Given the description of an element on the screen output the (x, y) to click on. 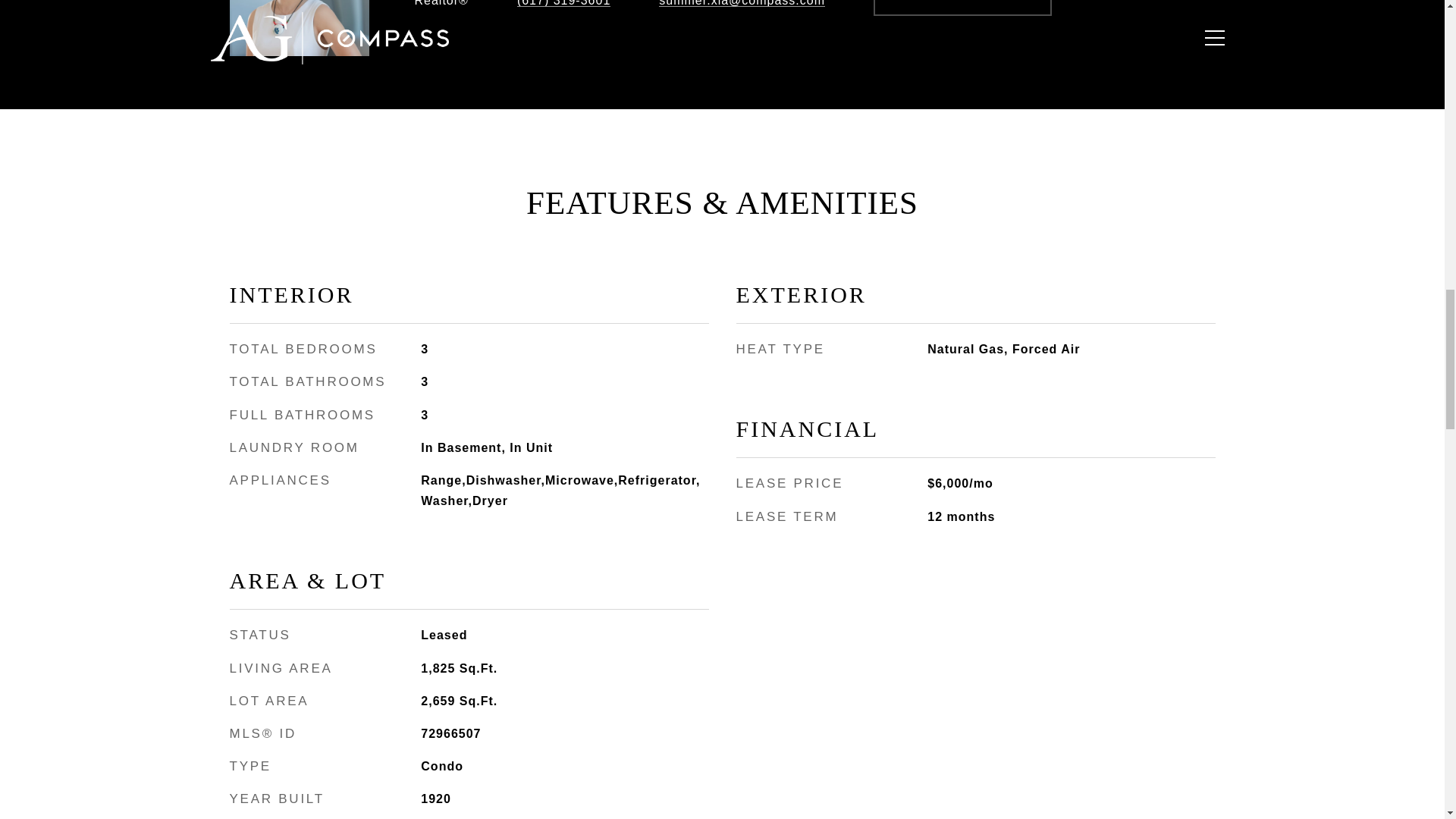
CONTACT AGENT (962, 7)
